Given the description of an element on the screen output the (x, y) to click on. 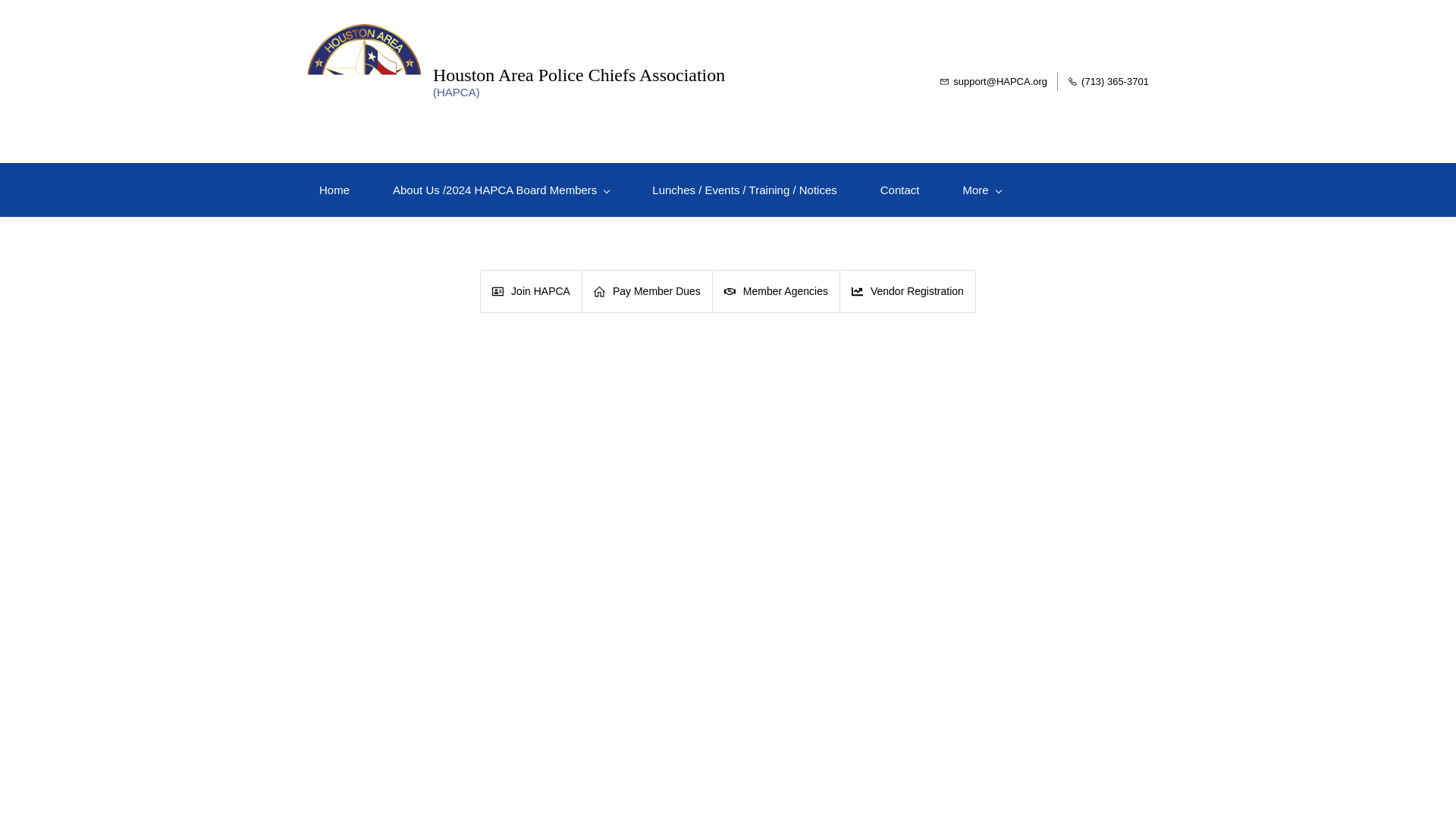
Email address (992, 81)
More (980, 189)
Phone Number (1107, 81)
Home (334, 189)
Logo (364, 81)
Contact (899, 189)
